Given the description of an element on the screen output the (x, y) to click on. 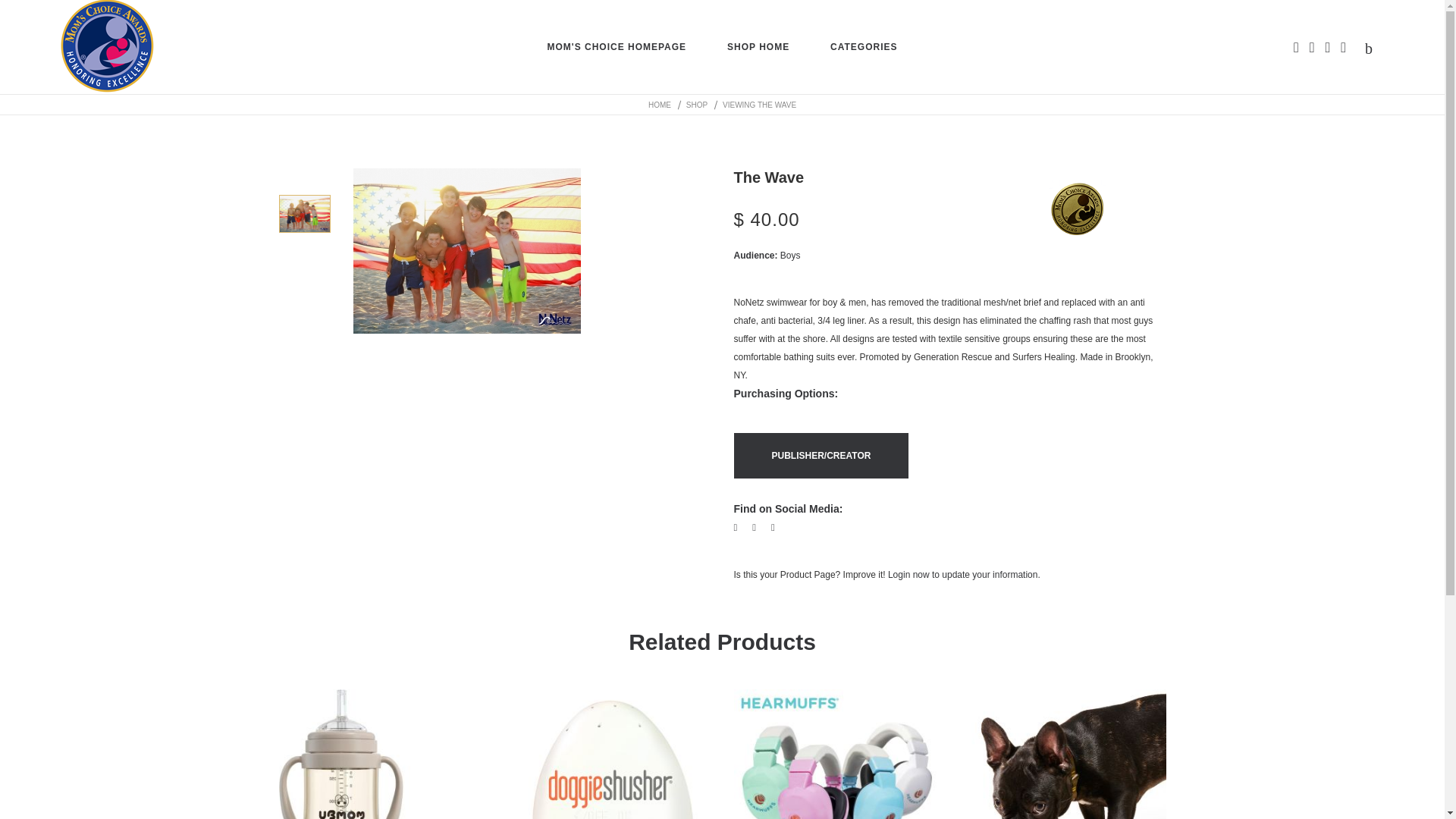
MCA Gold Award (1076, 208)
MOM'S CHOICE HOMEPAGE (615, 46)
CATEGORIES (862, 46)
SHOP HOME (757, 46)
